Given the description of an element on the screen output the (x, y) to click on. 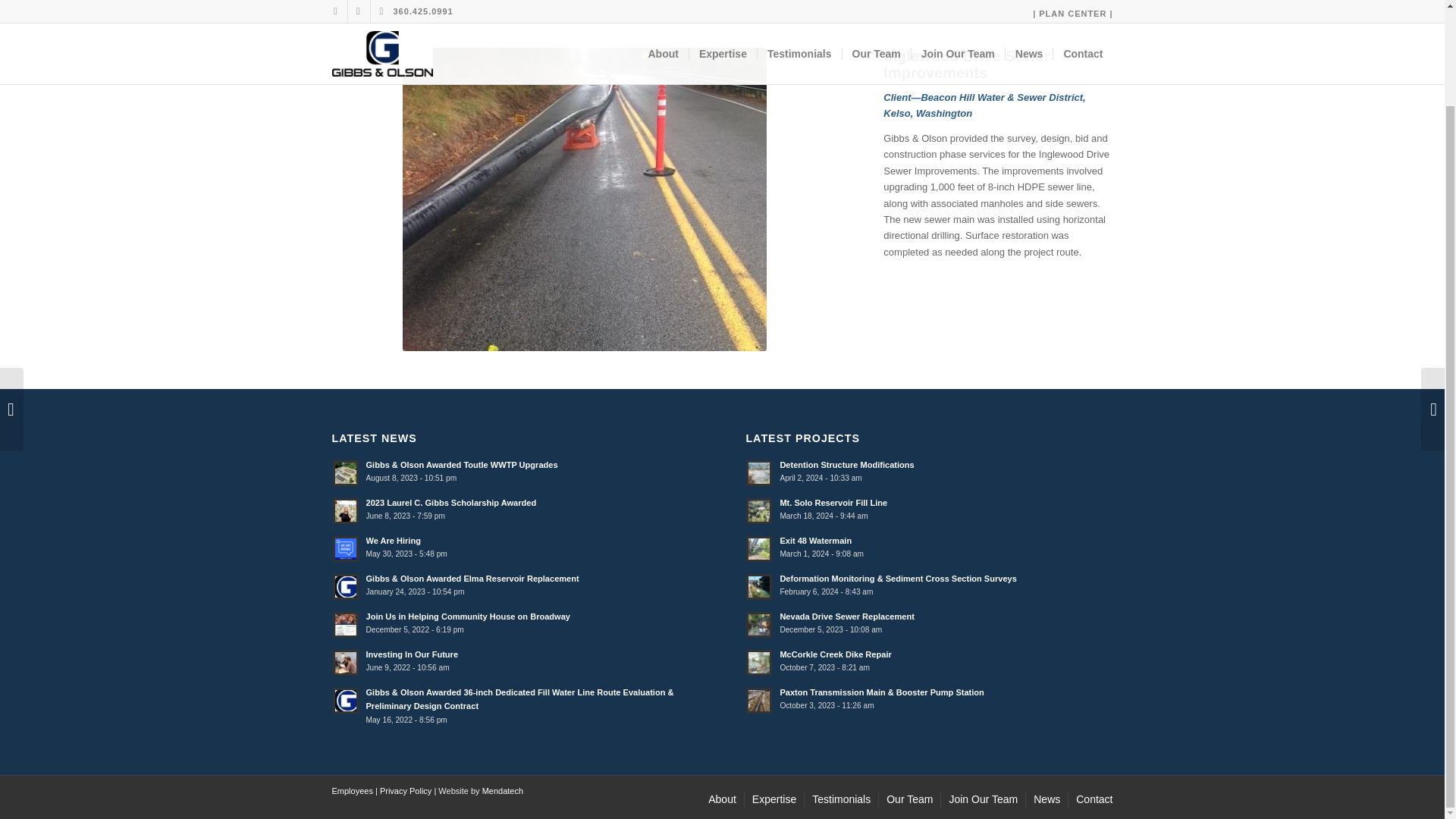
We Are Hiring (392, 540)
Read: 2023 Laurel C. Gibbs Scholarship Awarded (345, 510)
Investing In Our Future (411, 654)
IngelwoodDrive-Sewer (585, 199)
2023 Laurel C. Gibbs Scholarship Awarded (450, 501)
Read: We Are Hiring (345, 548)
Read: 2023 Laurel C. Gibbs Scholarship Awarded (450, 501)
Read: We Are Hiring (392, 540)
Detention Structure Modifications (846, 464)
Join Us in Helping Community House on Broadway (467, 615)
